Given the description of an element on the screen output the (x, y) to click on. 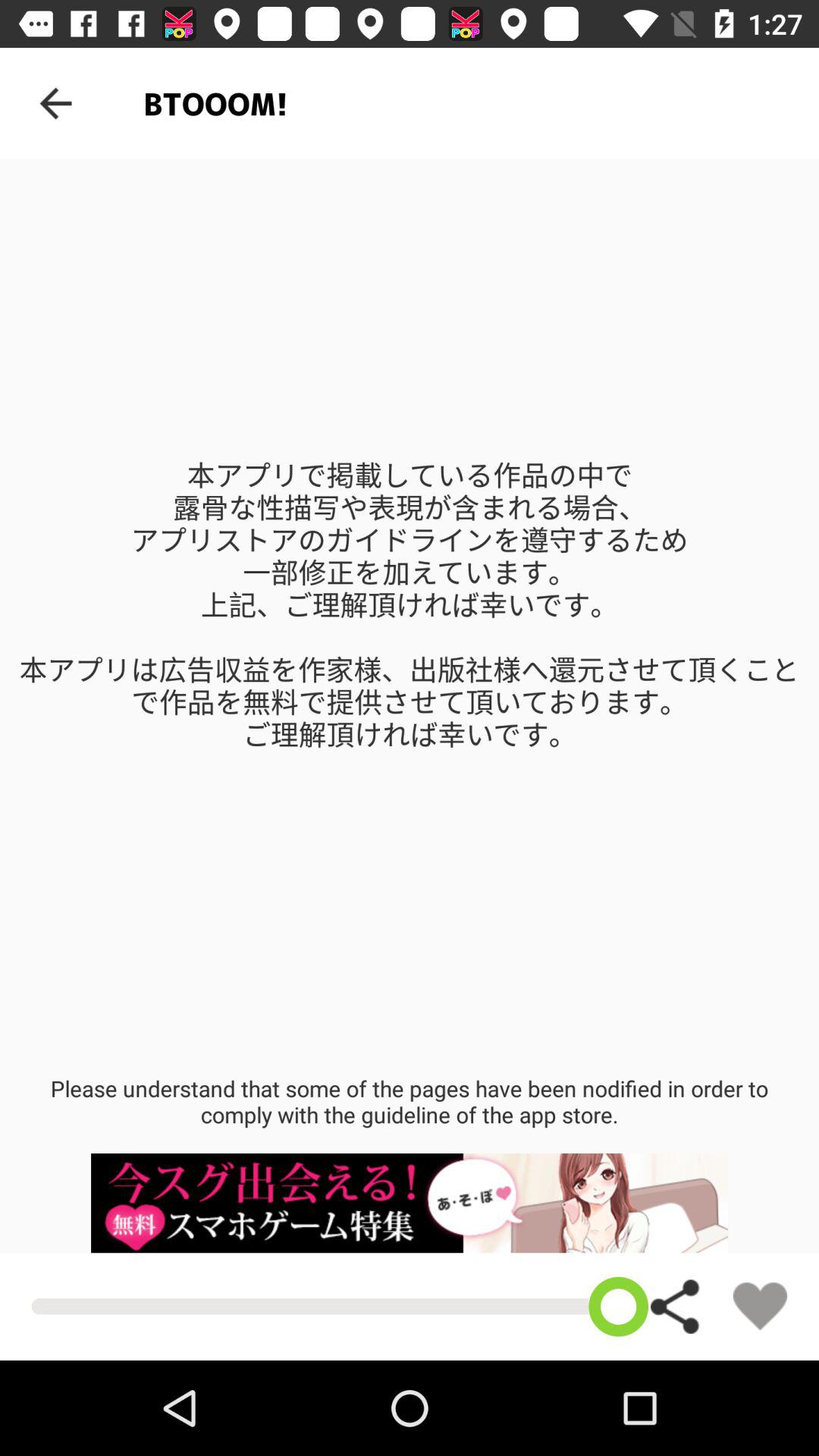
share on social media (675, 1306)
